Given the description of an element on the screen output the (x, y) to click on. 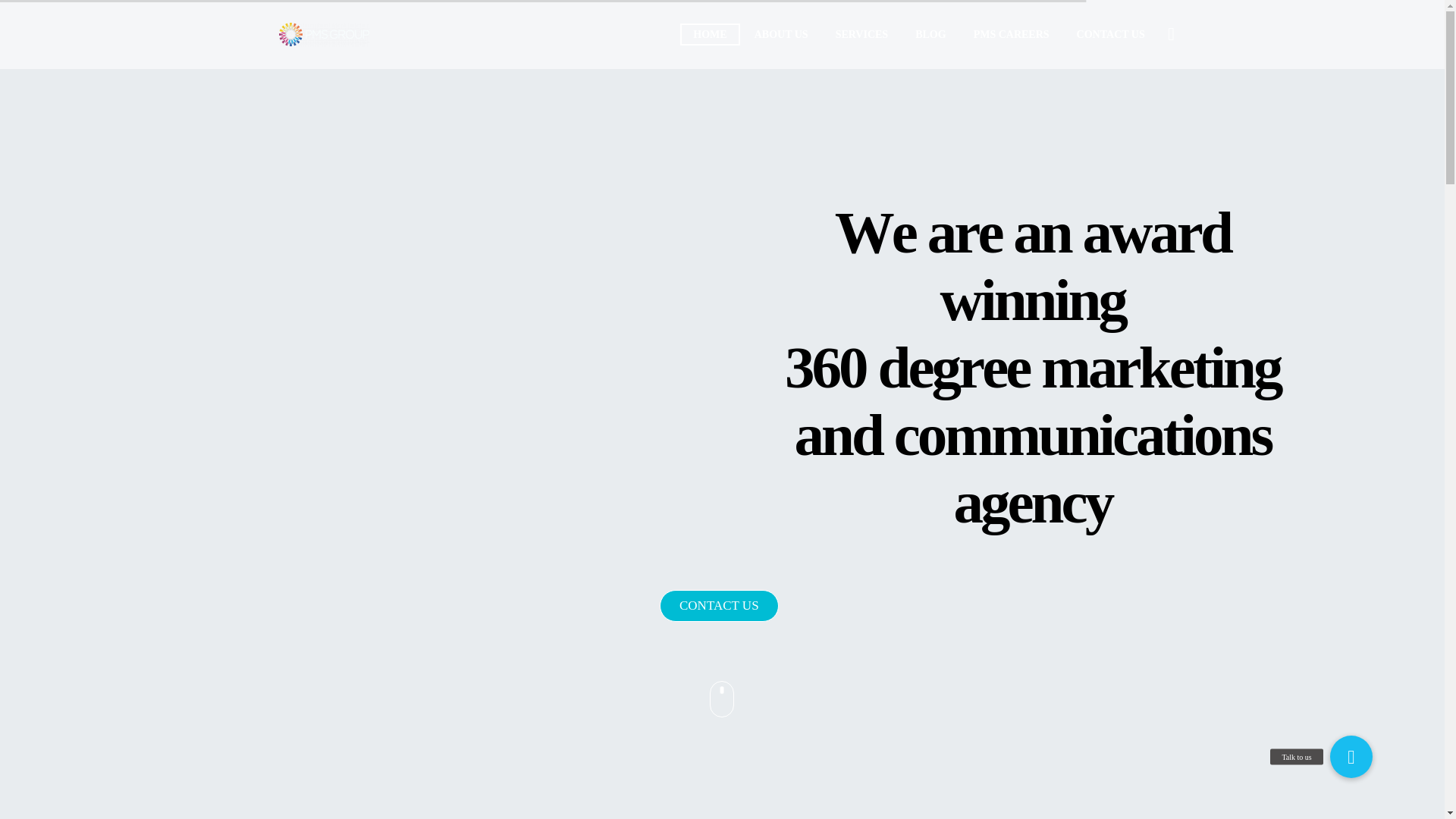
SERVICES (861, 34)
HOME (709, 34)
ABOUT US (780, 34)
BLOG (930, 34)
PMS CAREERS (1011, 34)
CONTACT US (1110, 34)
